Given the description of an element on the screen output the (x, y) to click on. 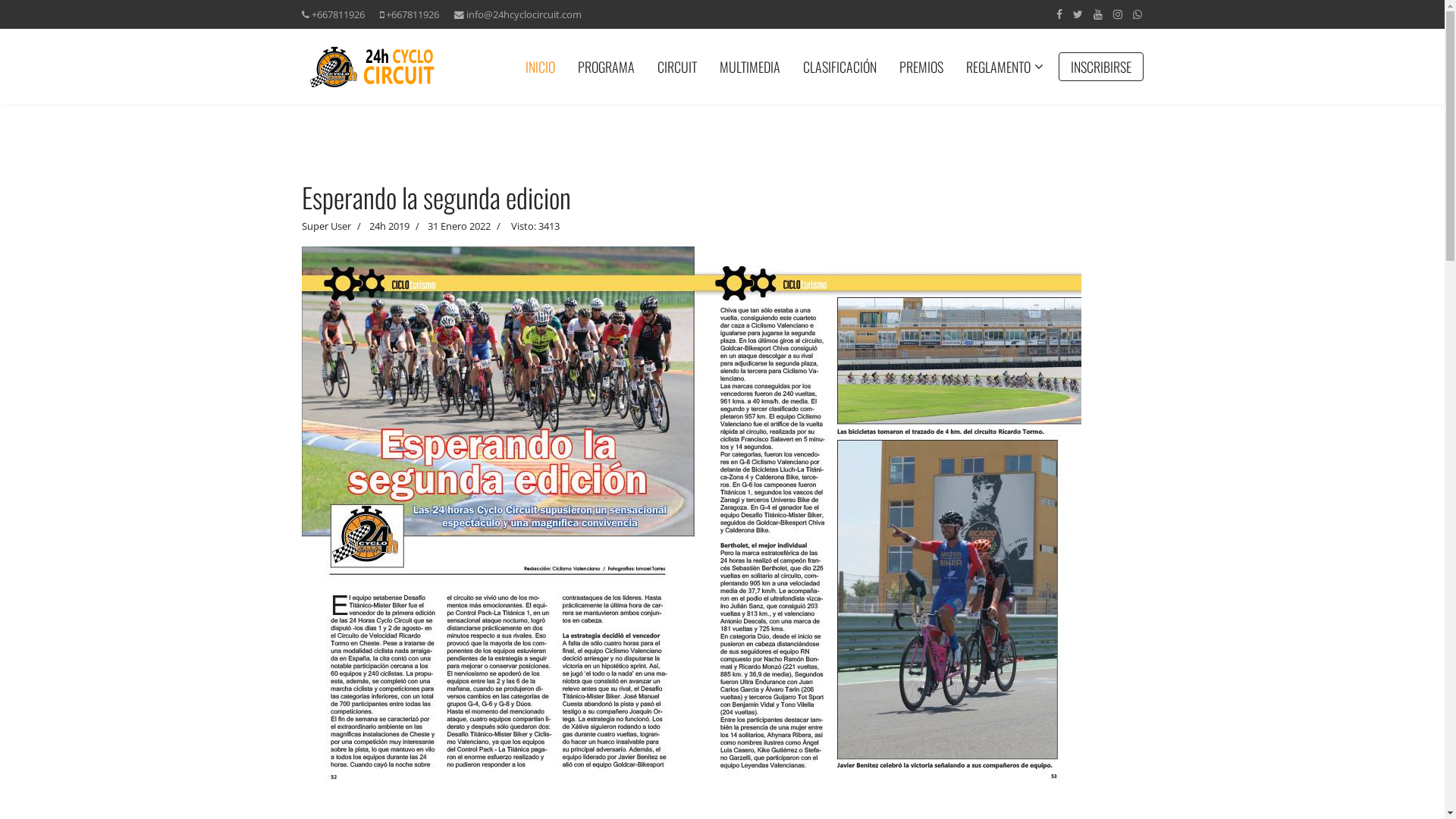
REGLAMENTO Element type: text (997, 66)
+667811926 Element type: text (411, 14)
INICIO Element type: text (540, 66)
PREMIOS Element type: text (920, 66)
info@24hcyclocircuit.com Element type: text (522, 14)
+667811926 Element type: text (337, 14)
CIRCUIT Element type: text (677, 66)
24h 2019 Element type: text (388, 225)
INSCRIBIRSE Element type: text (1100, 66)
MULTIMEDIA Element type: text (749, 66)
PROGRAMA Element type: text (605, 66)
